Given the description of an element on the screen output the (x, y) to click on. 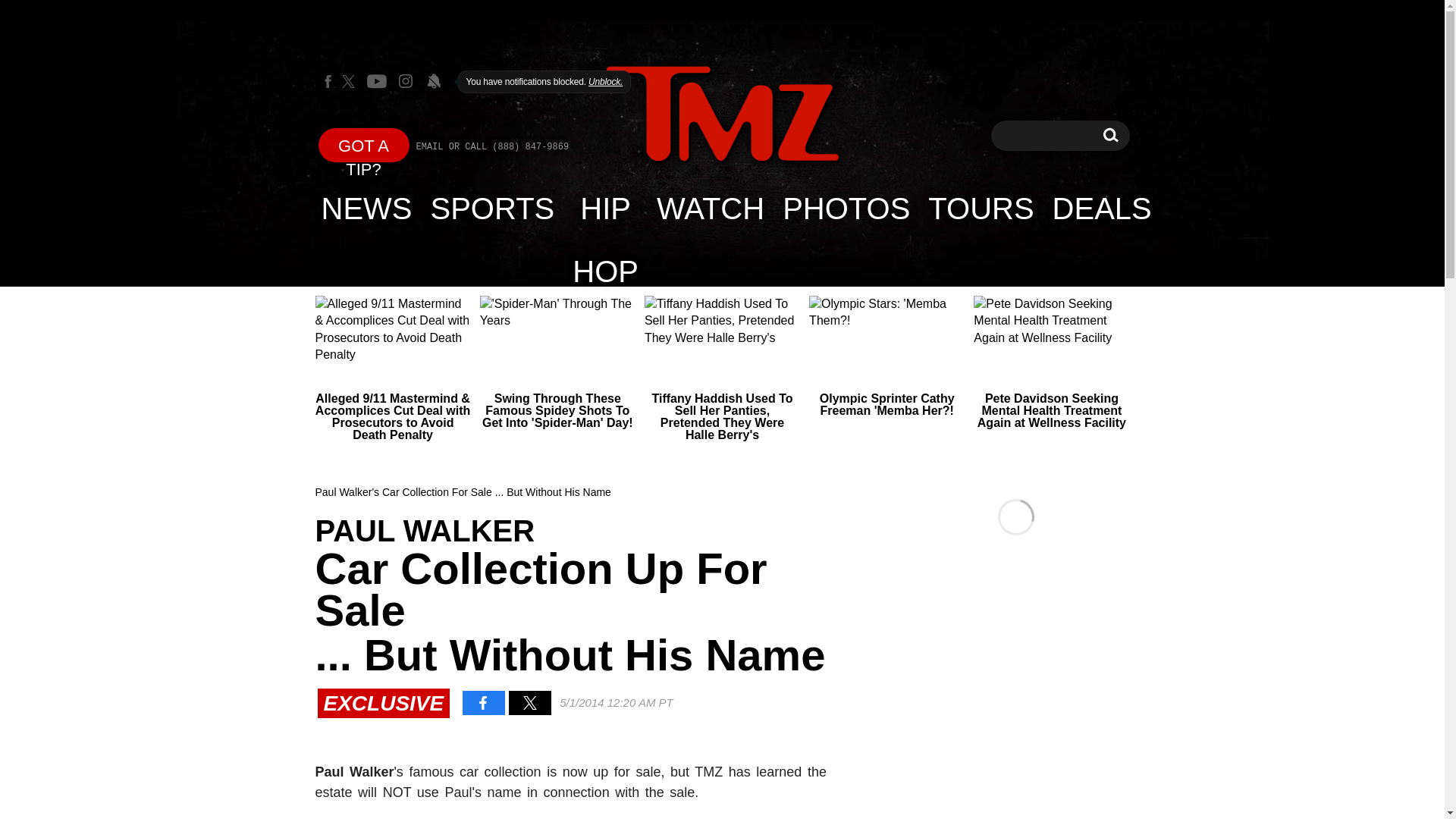
TOURS (980, 207)
TMZ (722, 113)
DEALS (1101, 207)
SPORTS (1110, 135)
PHOTOS (493, 207)
GOT A TIP? (845, 207)
Search (363, 144)
TMZ (1110, 134)
HIP HOP (722, 115)
NEWS (605, 207)
WATCH (367, 207)
